Given the description of an element on the screen output the (x, y) to click on. 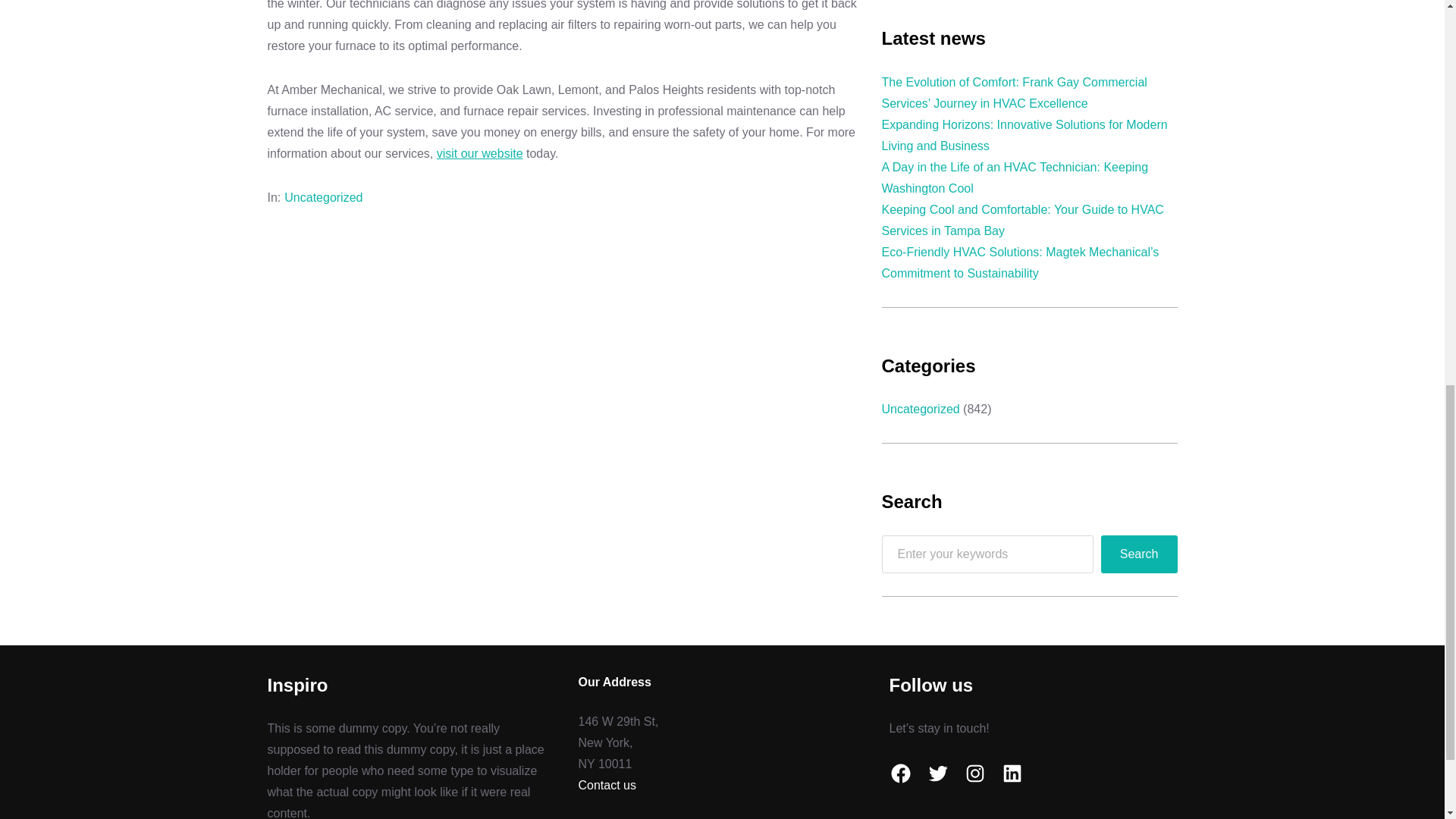
Search (1138, 554)
Contact us (606, 784)
Uncategorized (322, 196)
Instagram (973, 773)
Facebook (899, 773)
LinkedIn (1012, 773)
Uncategorized (919, 408)
visit our website (479, 153)
Twitter (937, 773)
